Given the description of an element on the screen output the (x, y) to click on. 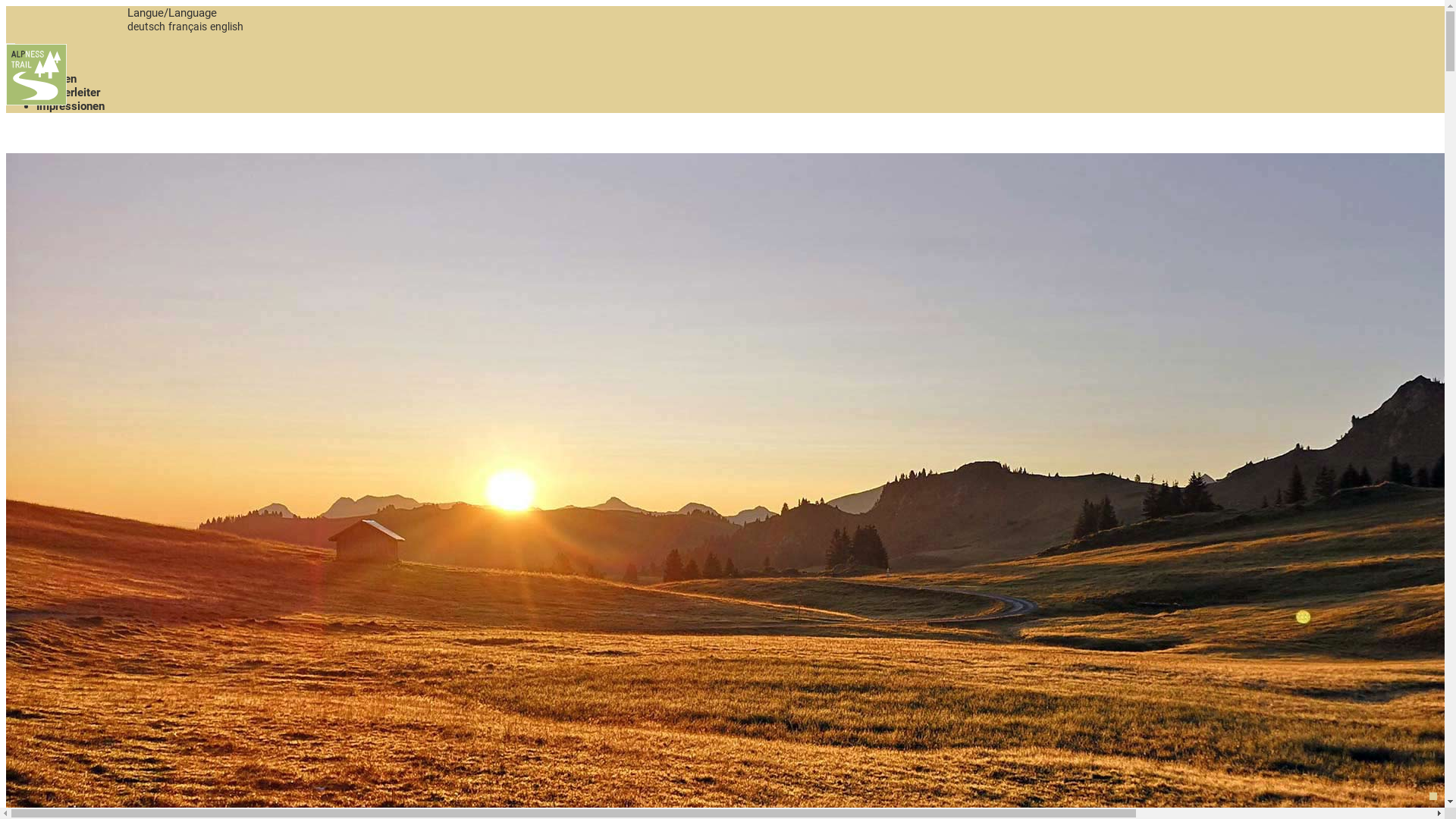
Etappen Element type: text (56, 78)
english Element type: text (226, 26)
Impressionen Element type: text (70, 105)
Langue/Language Element type: text (171, 12)
Karte Element type: text (49, 65)
deutsch Element type: text (146, 26)
Wanderleiter Element type: text (68, 92)
